Given the description of an element on the screen output the (x, y) to click on. 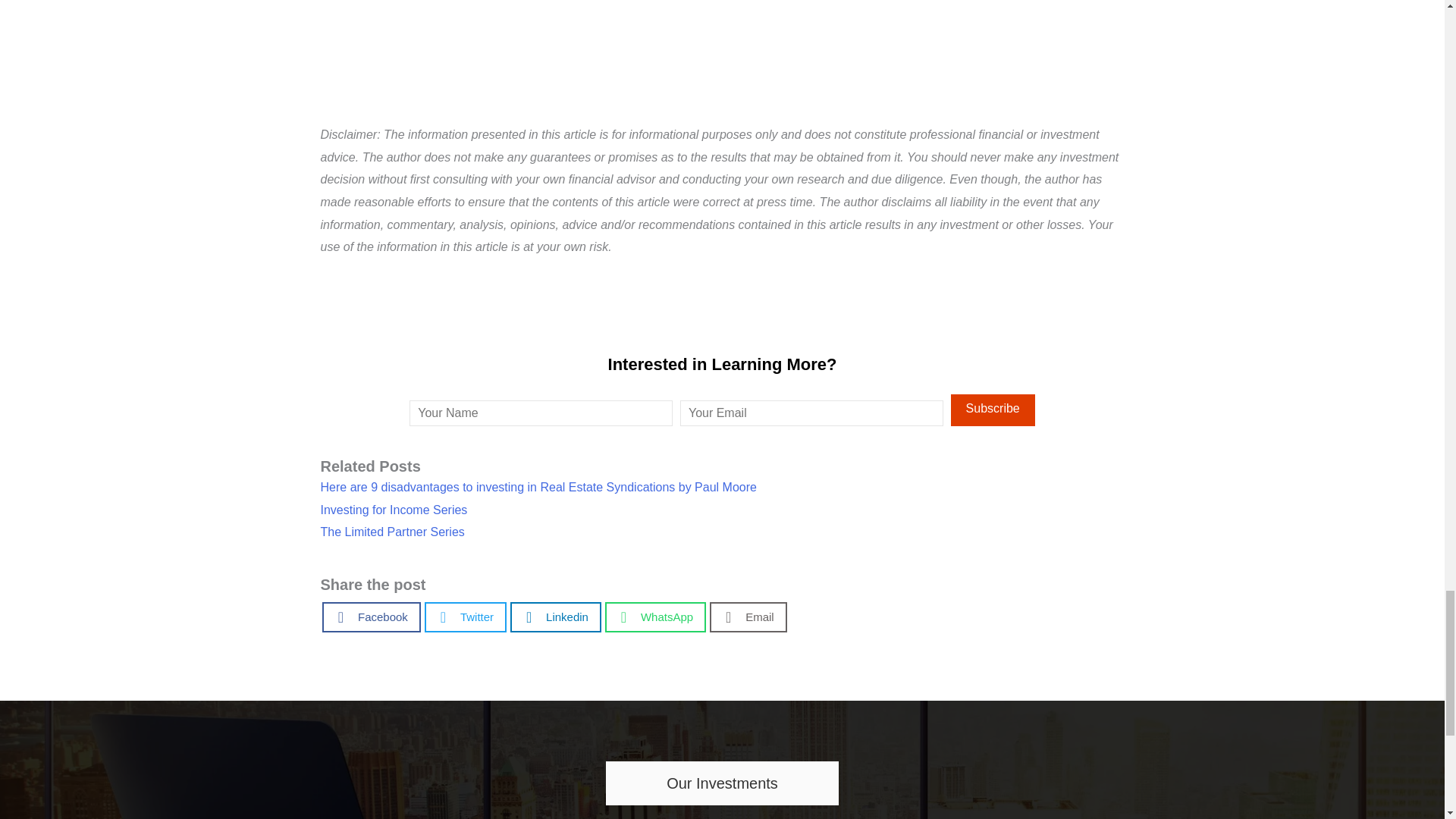
Click Here (992, 409)
Facebook (371, 616)
Linkedin (555, 616)
Investing for Income Series (393, 509)
Subscribe (992, 409)
Twitter (465, 616)
The Limited Partner Series (392, 531)
Our Investments (721, 783)
WhatsApp (655, 616)
